Given the description of an element on the screen output the (x, y) to click on. 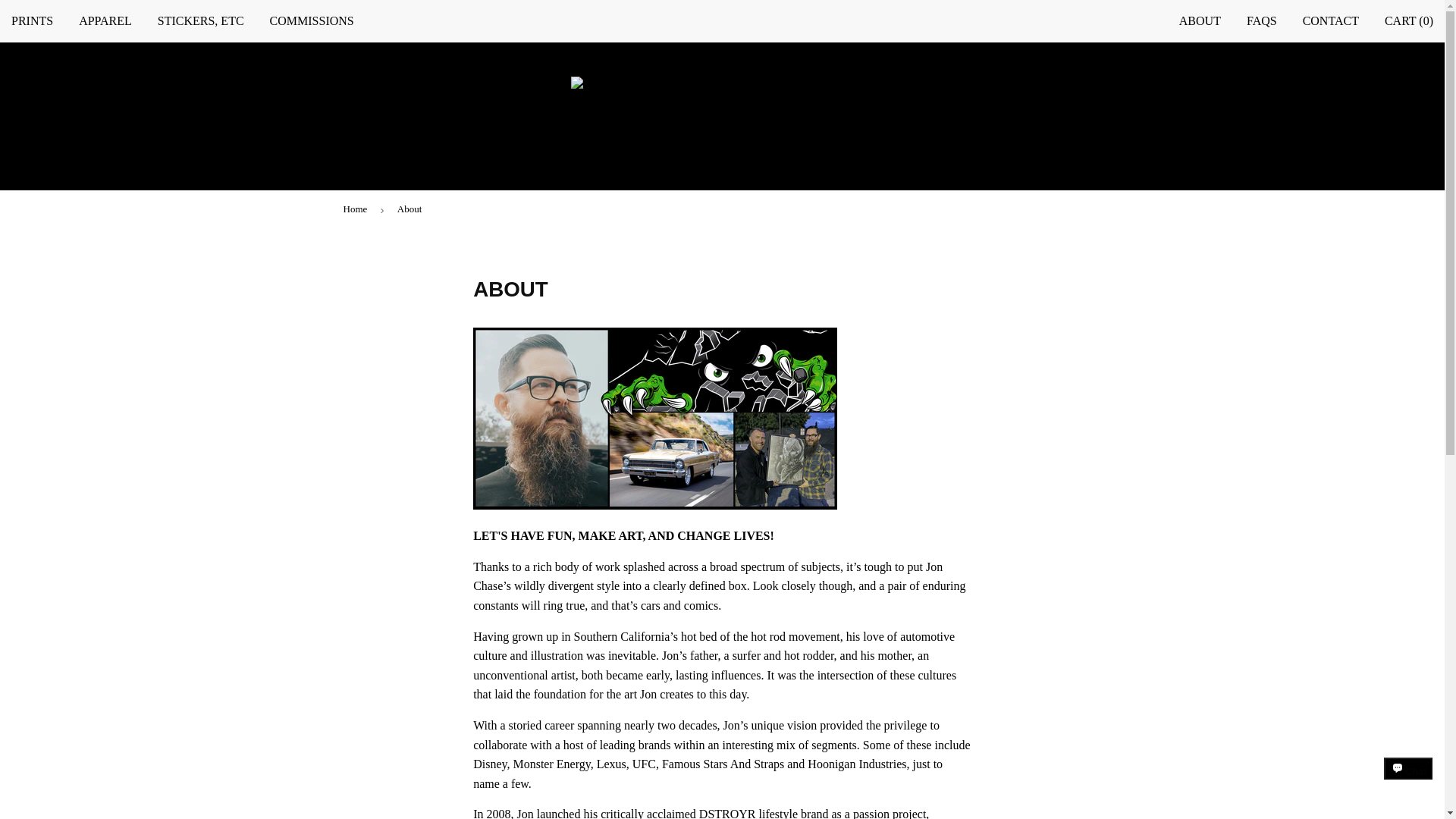
CONTACT (1330, 21)
STICKERS, ETC (201, 21)
PRINTS (32, 21)
COMMISSIONS (312, 21)
APPAREL (104, 21)
ABOUT (1199, 21)
FAQS (1261, 21)
Shopify online store chat (1408, 781)
